Given the description of an element on the screen output the (x, y) to click on. 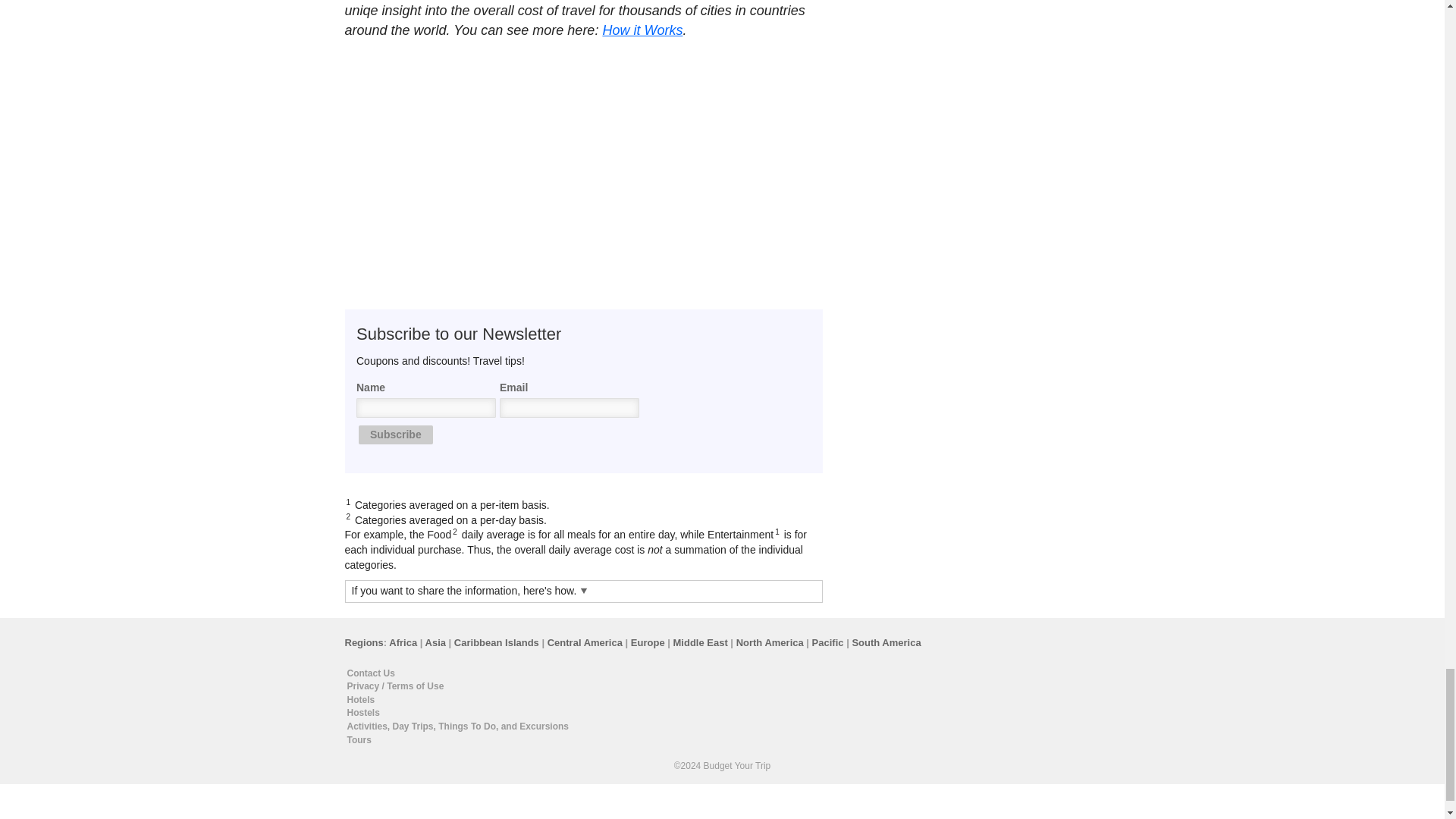
Is Punta del Este Expensive? (745, 63)
How much does a trip to Uruguay cost? (419, 63)
How much does a trip to Uruguay cost? (419, 63)
Is Uruguay Expensive? (583, 63)
Is Punta del Este Expensive? (745, 63)
Is Uruguay Expensive? (583, 63)
